Given the description of an element on the screen output the (x, y) to click on. 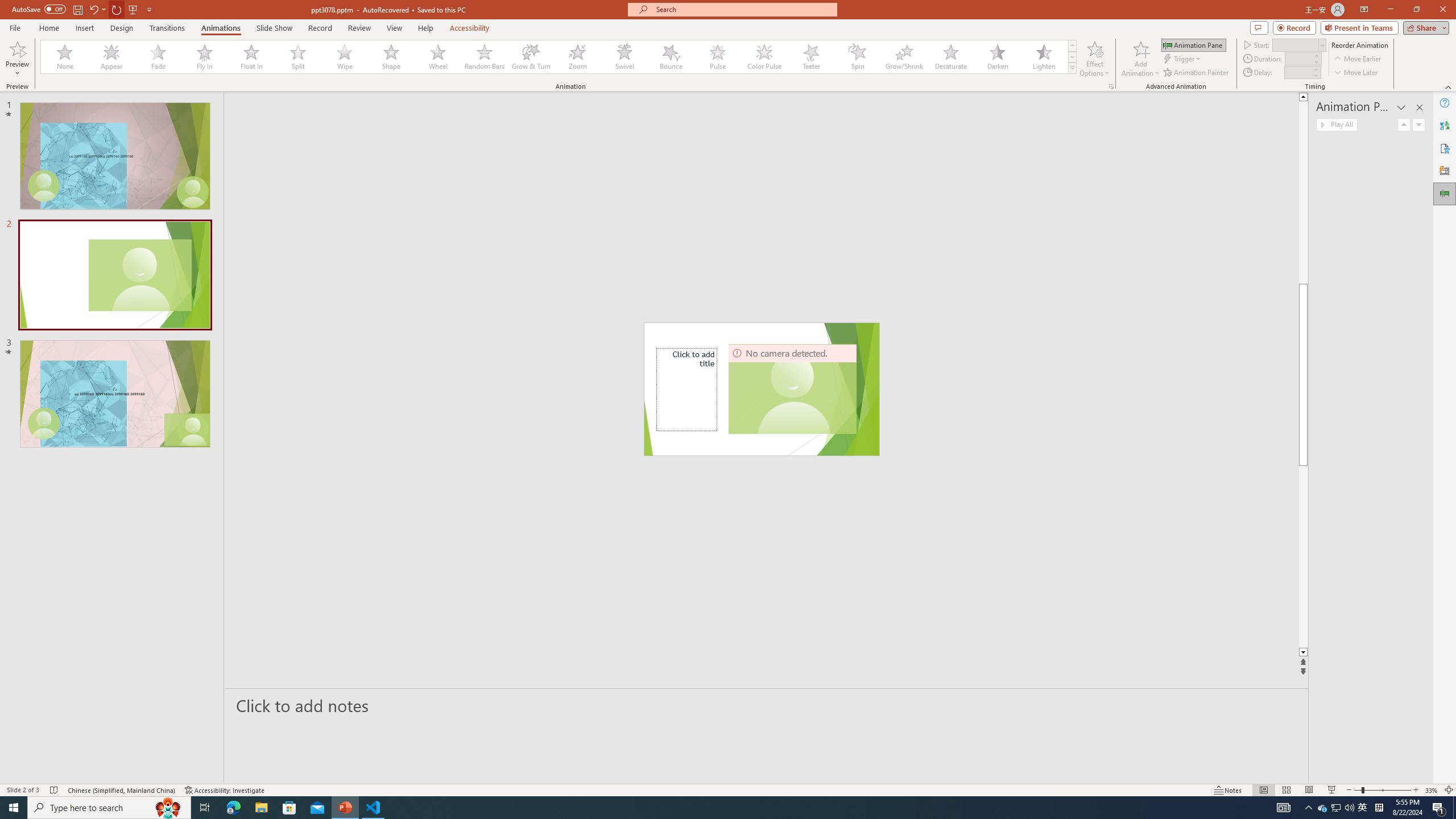
Animation Delay (1297, 72)
Add Animation (1141, 58)
Animation Pane (1444, 193)
Move Earlier (1357, 58)
